Given the description of an element on the screen output the (x, y) to click on. 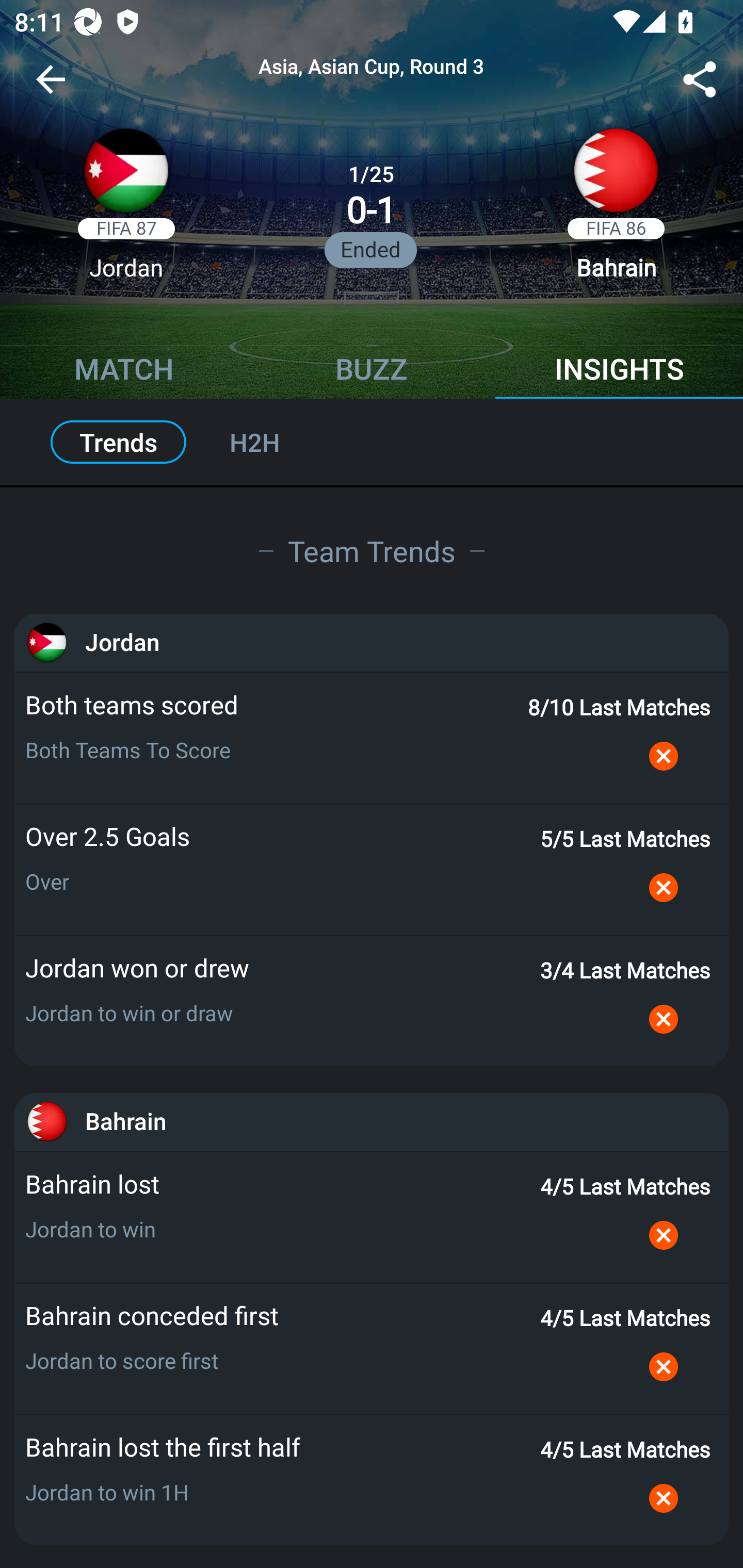
Navigate up (50, 86)
Asia, Asian Cup, Round 3 (371, 66)
Share (699, 82)
FIFA 87 Jordan (126, 210)
FIFA 86 Bahrain (616, 210)
MATCH (123, 371)
BUZZ (371, 371)
INSIGHTS (619, 371)
H2H (276, 442)
Team Trends (371, 550)
Jordan (371, 642)
Over 2.5 Goals 5/5 Last Matches Over (371, 869)
Bahrain (371, 1121)
Bahrain lost 4/5 Last Matches Jordan to win (371, 1217)
